Given the description of an element on the screen output the (x, y) to click on. 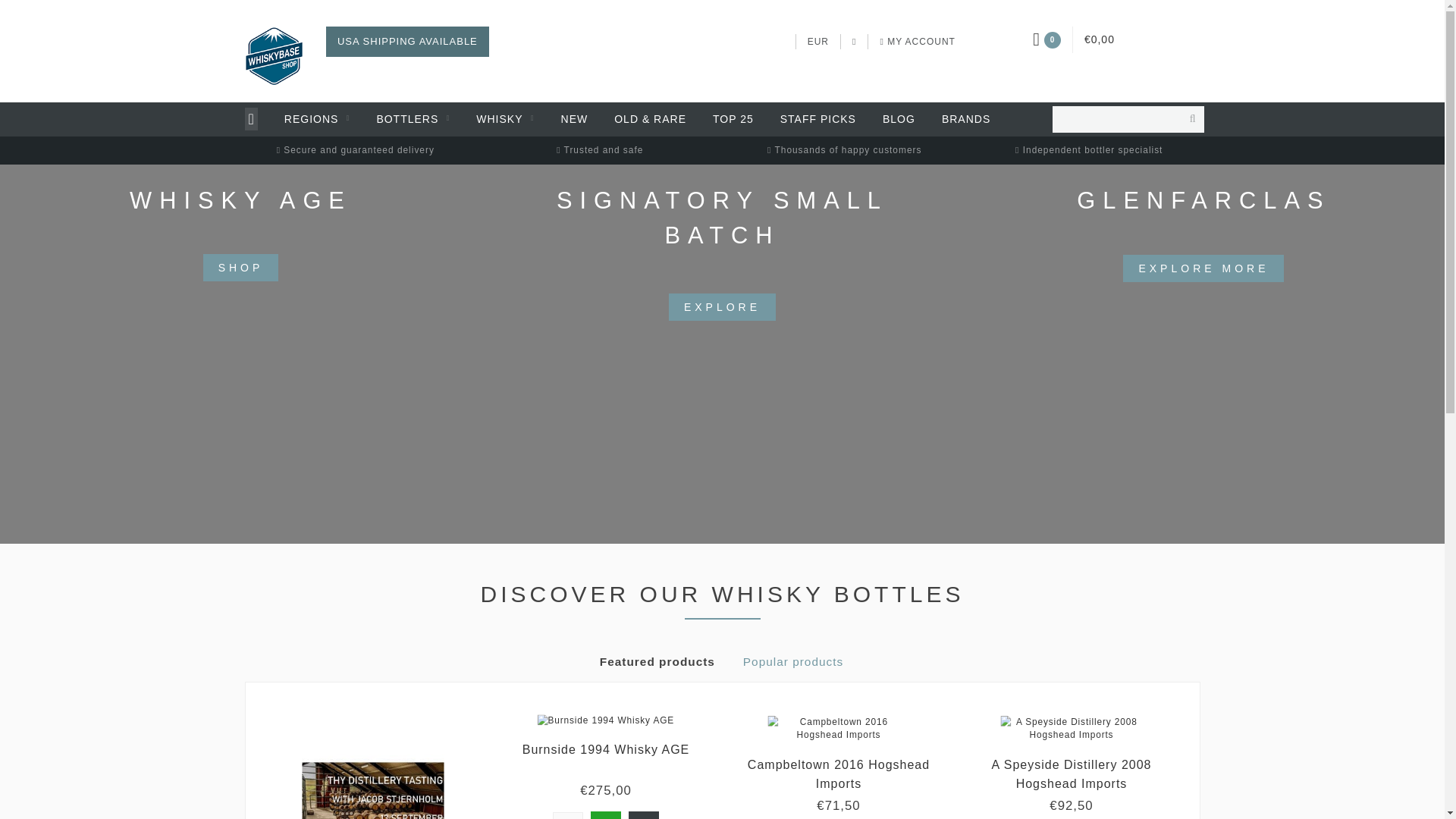
MY ACCOUNT (917, 41)
Burnside 1994 Whisky AGE (606, 748)
A Speyside Distillery 2008 Hogshead Imports (1084, 730)
REGIONS (316, 119)
Burnside 1994 Whisky AGE (617, 721)
Campbeltown 2016 Hogshead Imports (850, 730)
Campbeltown 2016 Hogshead Imports (839, 774)
Thy Whisky Distillery tasting on September 13 (384, 773)
A Speyside Distillery 2008 Hogshead Imports (1071, 774)
1 (568, 815)
